Given the description of an element on the screen output the (x, y) to click on. 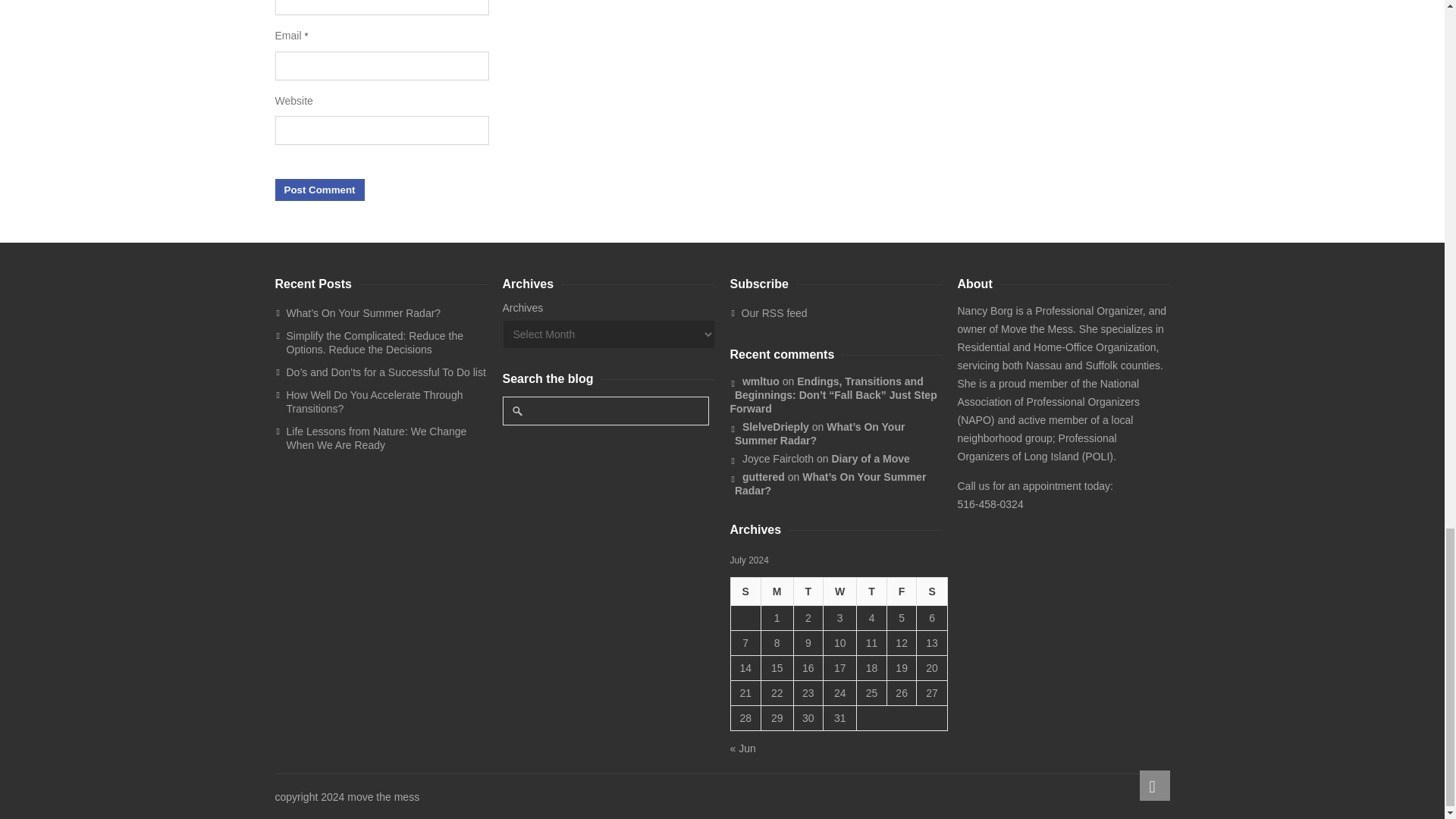
Thursday (871, 591)
Post Comment (319, 189)
Monday (776, 591)
Friday (901, 591)
Saturday (931, 591)
Wednesday (839, 591)
Post Comment (319, 189)
Sunday (744, 591)
Tuesday (808, 591)
